Given the description of an element on the screen output the (x, y) to click on. 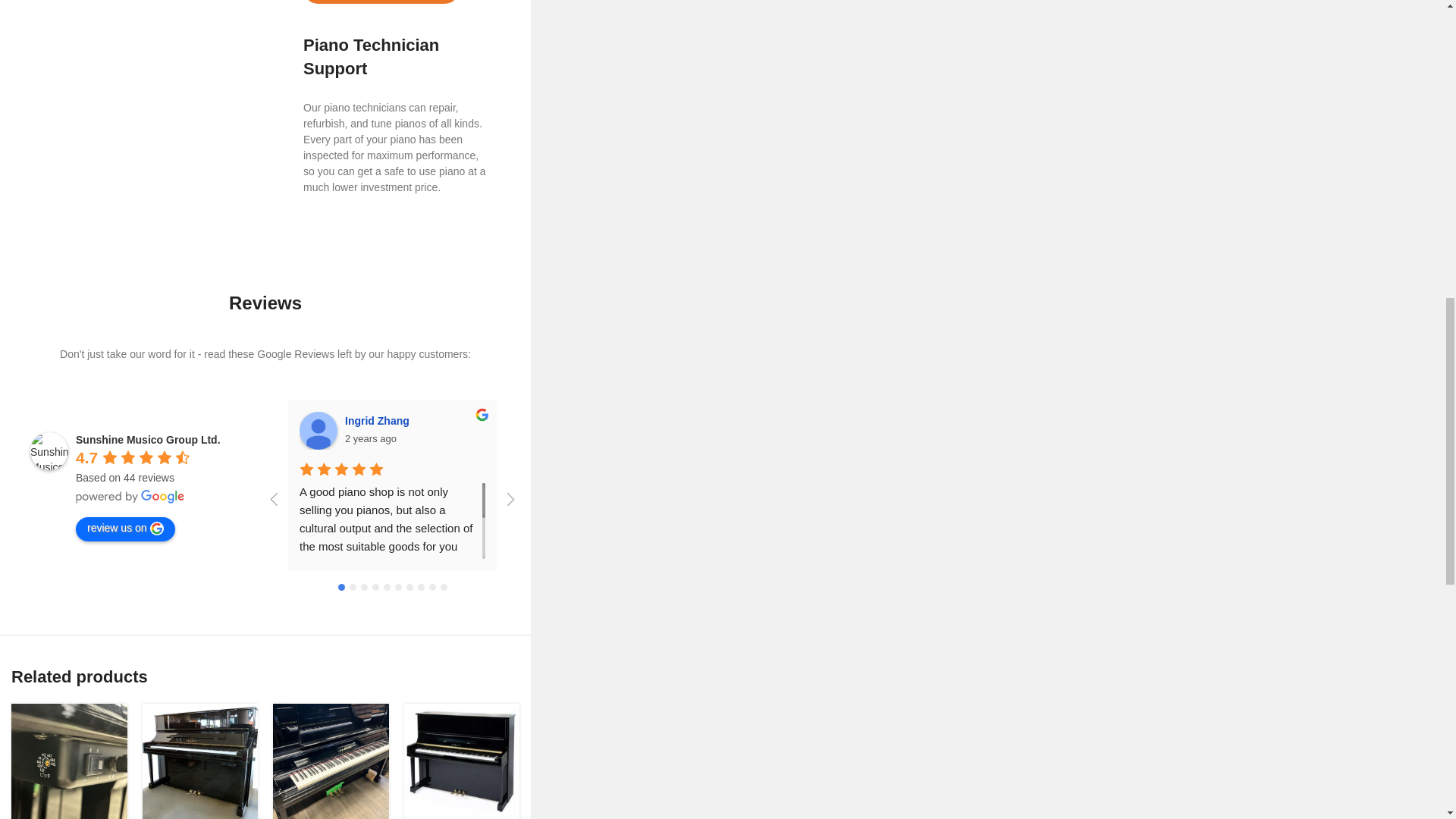
Ingrid Zhang (318, 430)
Barbara Chen (765, 430)
Lucia G (541, 430)
powered by Google (129, 496)
CHECK AVAILABILITY (381, 2)
Sunshine Musico Group Ltd. (49, 451)
